Given the description of an element on the screen output the (x, y) to click on. 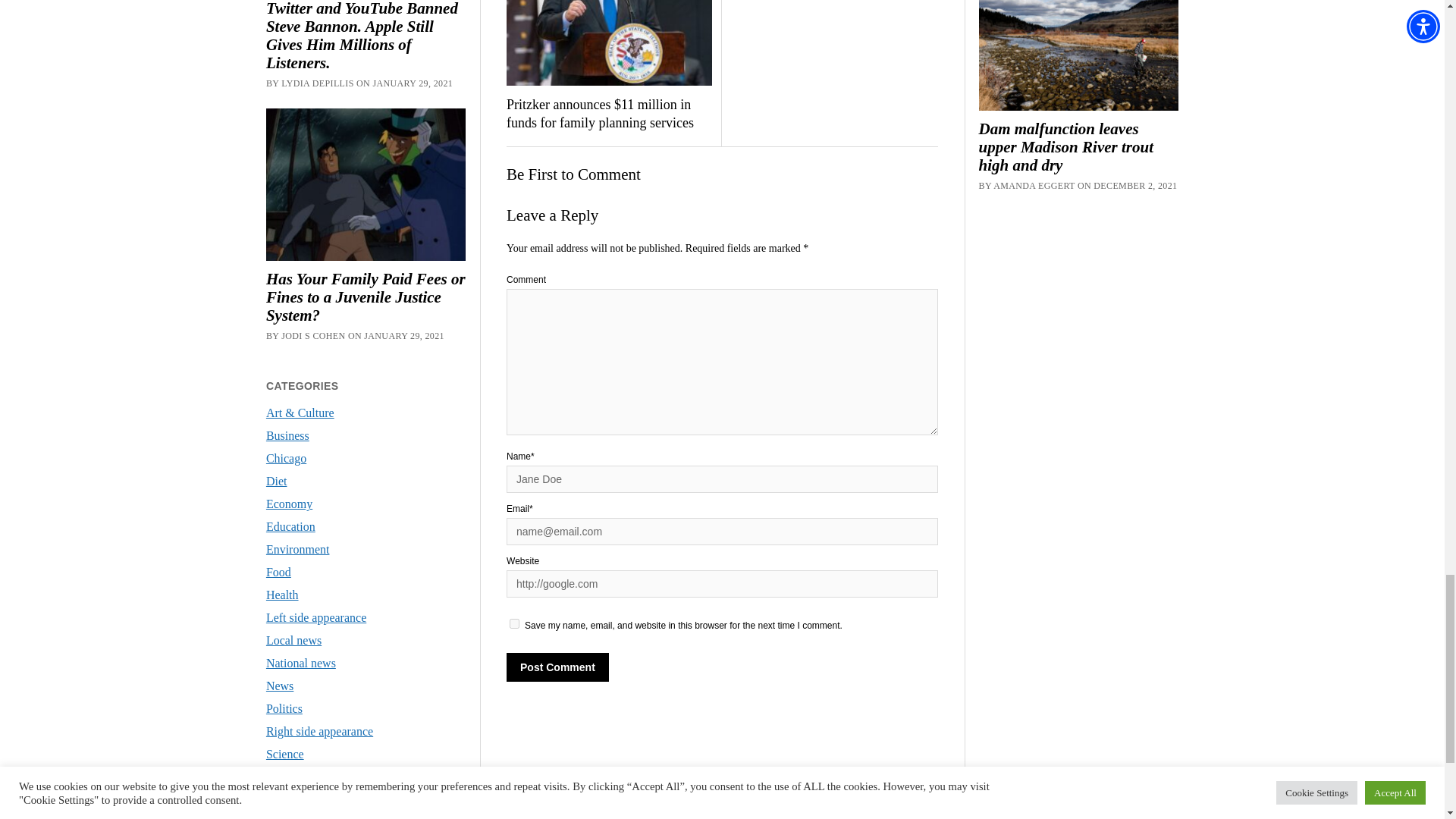
yes (514, 623)
Post Comment (557, 666)
